Given the description of an element on the screen output the (x, y) to click on. 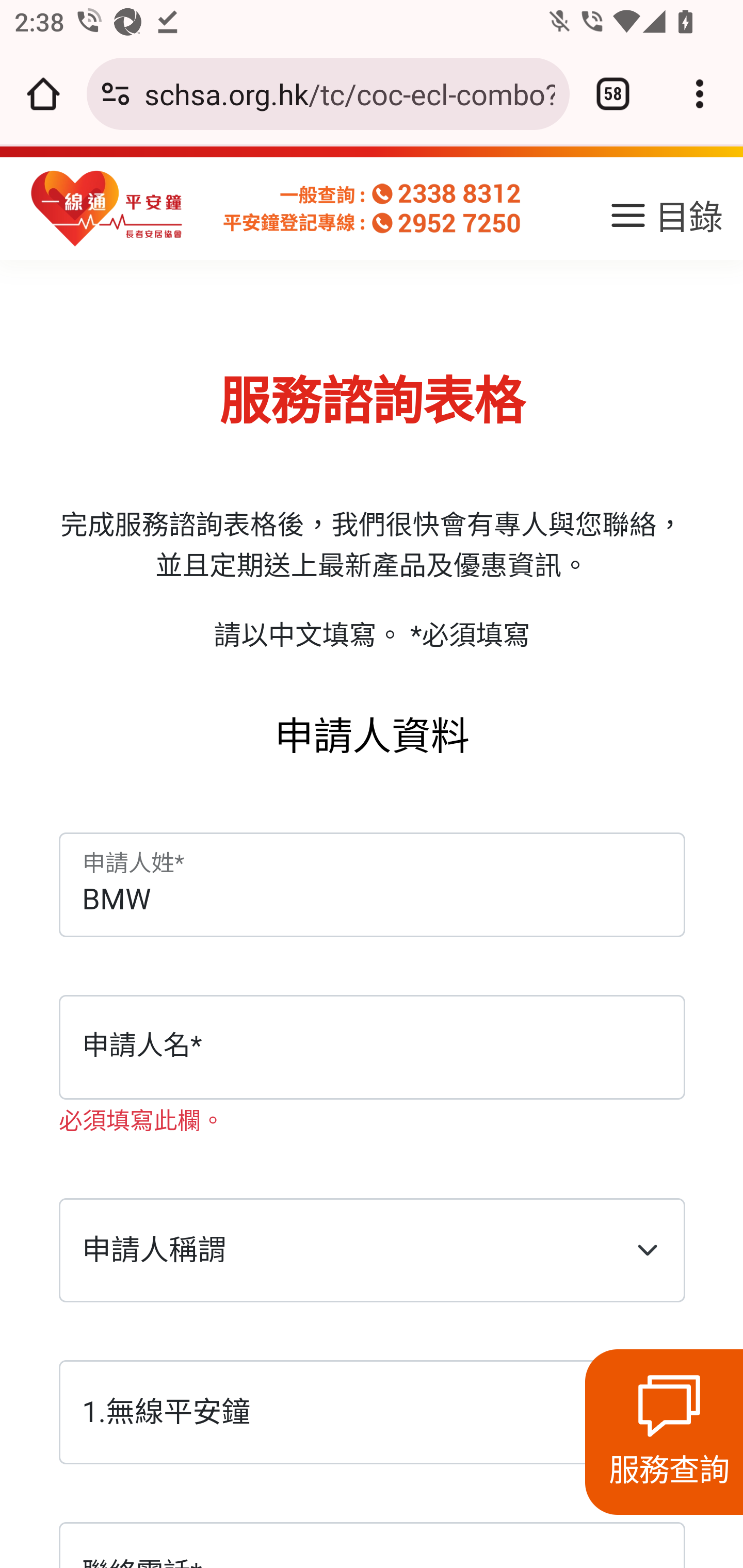
Open the home page (43, 93)
Connection is secure (115, 93)
Switch or close tabs (612, 93)
Customize and control Google Chrome (699, 93)
homepage (107, 209)
BMW (371, 886)
申請人稱謂 (371, 1250)
1.無線平安鐘 (371, 1414)
